Given the description of an element on the screen output the (x, y) to click on. 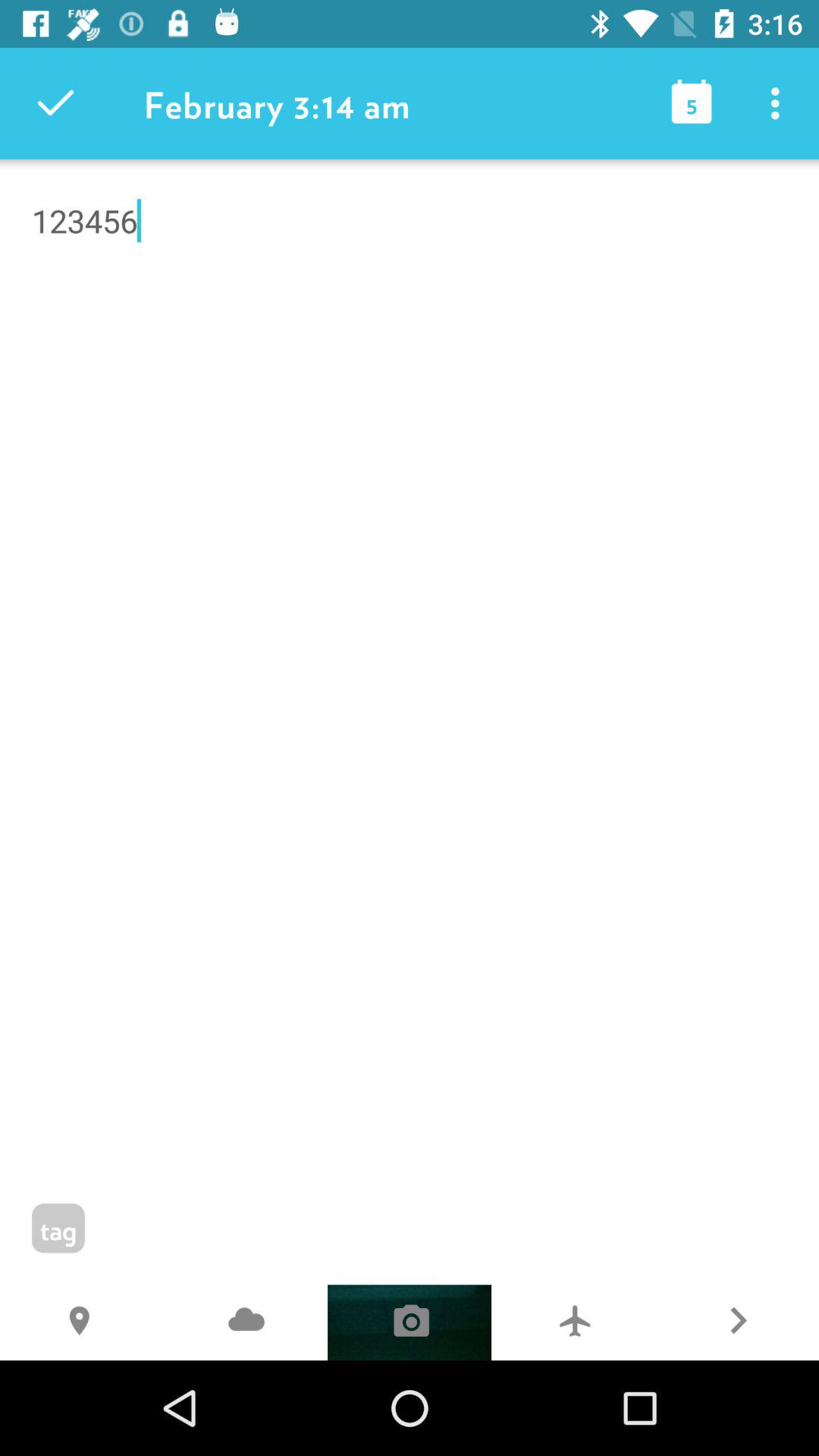
open the 7 (573, 1322)
